Given the description of an element on the screen output the (x, y) to click on. 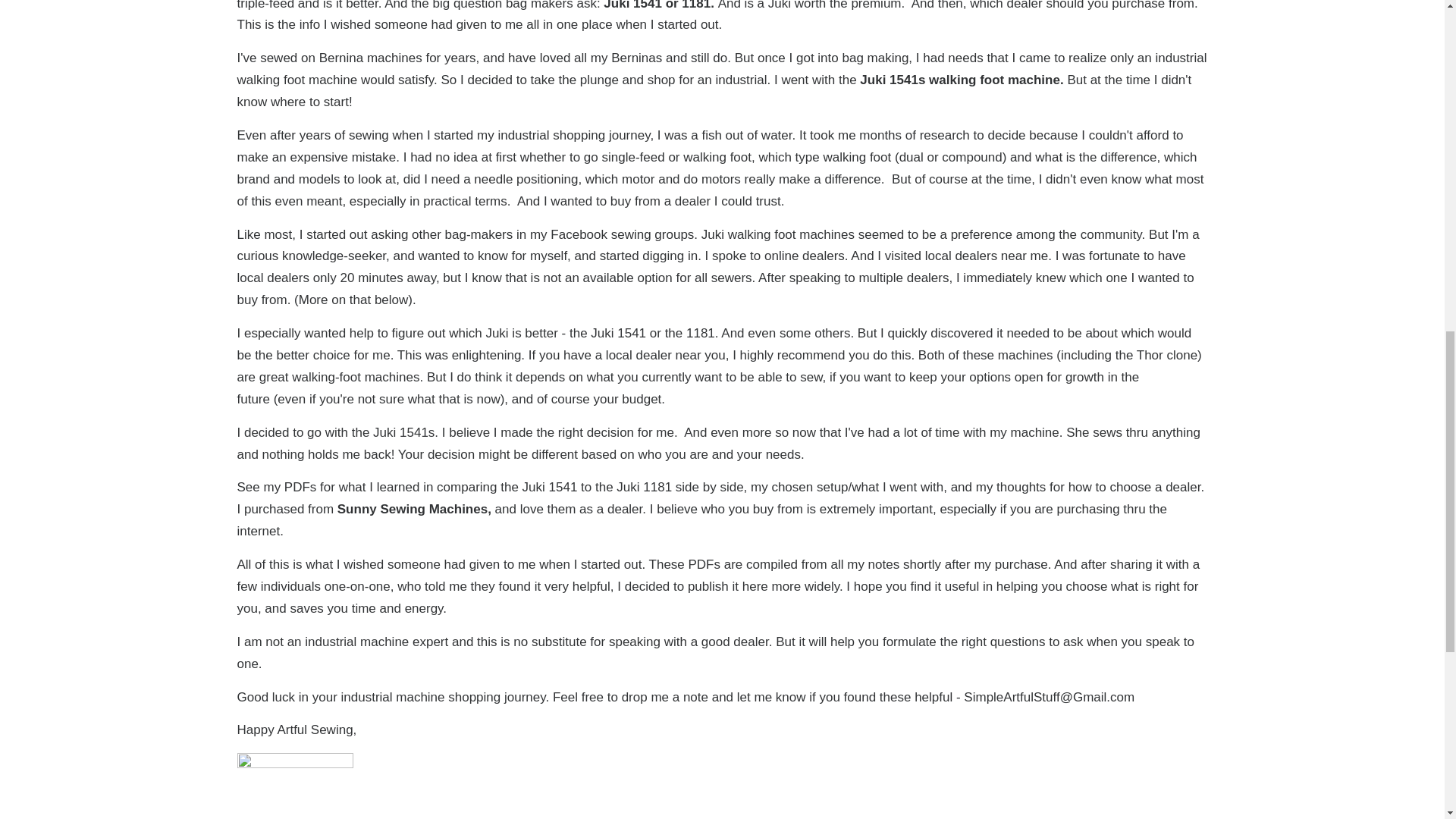
Artist Statement (293, 763)
